Given the description of an element on the screen output the (x, y) to click on. 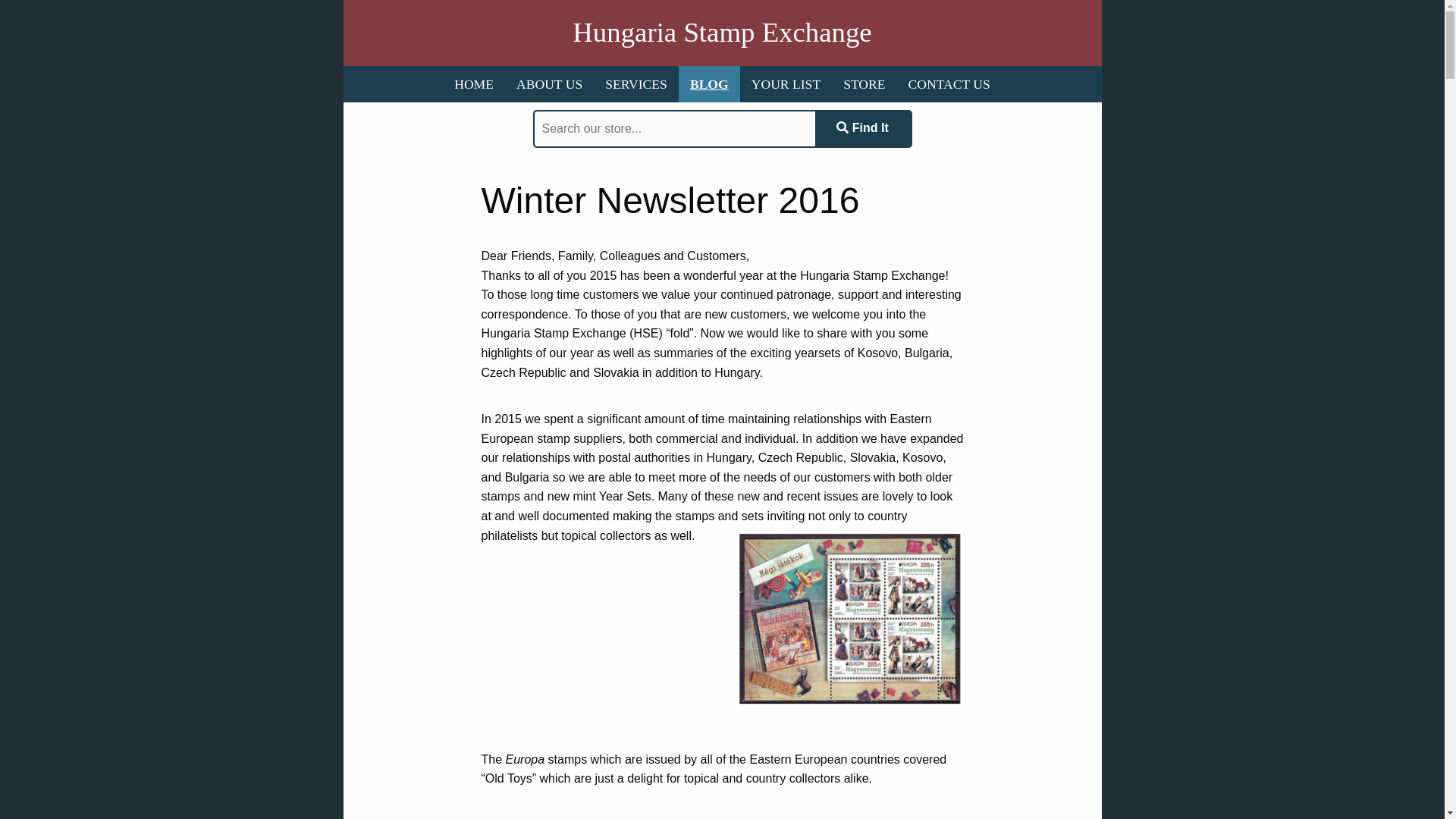
BLOG (708, 84)
ABOUT US (549, 84)
HOME (473, 84)
Hungaria Stamp Exchange (721, 33)
STORE (863, 84)
SERVICES (636, 84)
CONTACT US (948, 84)
YOUR LIST (785, 84)
Find It (862, 128)
